Given the description of an element on the screen output the (x, y) to click on. 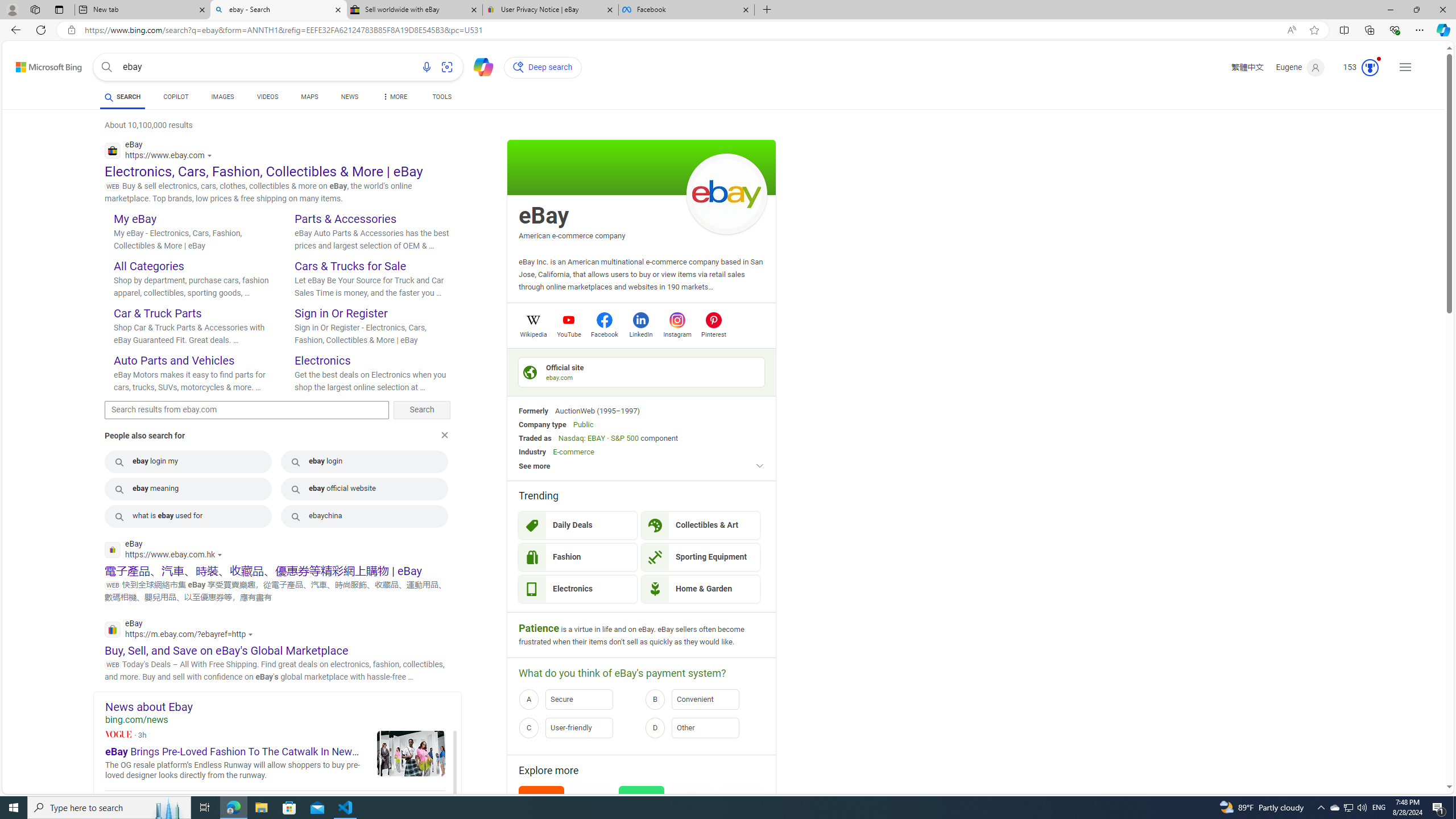
YouTube (568, 333)
IMAGES (222, 98)
eBay (543, 215)
Electronics (577, 588)
Class: medal-circled (1369, 67)
LinkedIn (640, 333)
Search more (1423, 753)
My eBay (135, 218)
EBAY (595, 438)
Home & Garden (701, 588)
